Given the description of an element on the screen output the (x, y) to click on. 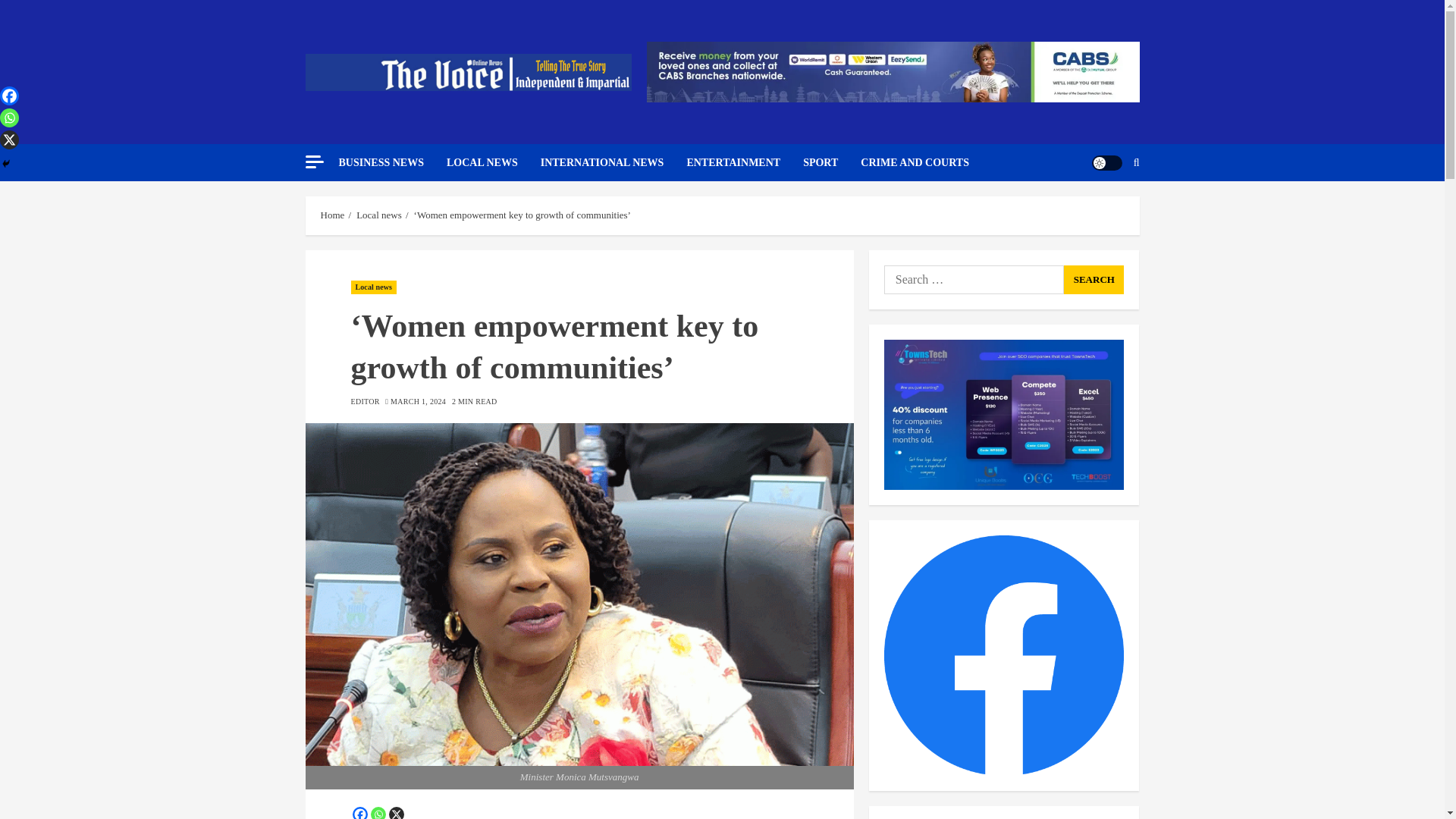
Hide (5, 163)
X (9, 139)
X (395, 812)
Facebook (9, 95)
Whatsapp (377, 812)
Search (1094, 279)
Local news (378, 215)
EDITOR (364, 401)
INTERNATIONAL NEWS (613, 162)
ENTERTAINMENT (744, 162)
SPORT (831, 162)
CRIME AND COURTS (914, 162)
Search (1099, 208)
Whatsapp (9, 117)
Home (331, 215)
